Given the description of an element on the screen output the (x, y) to click on. 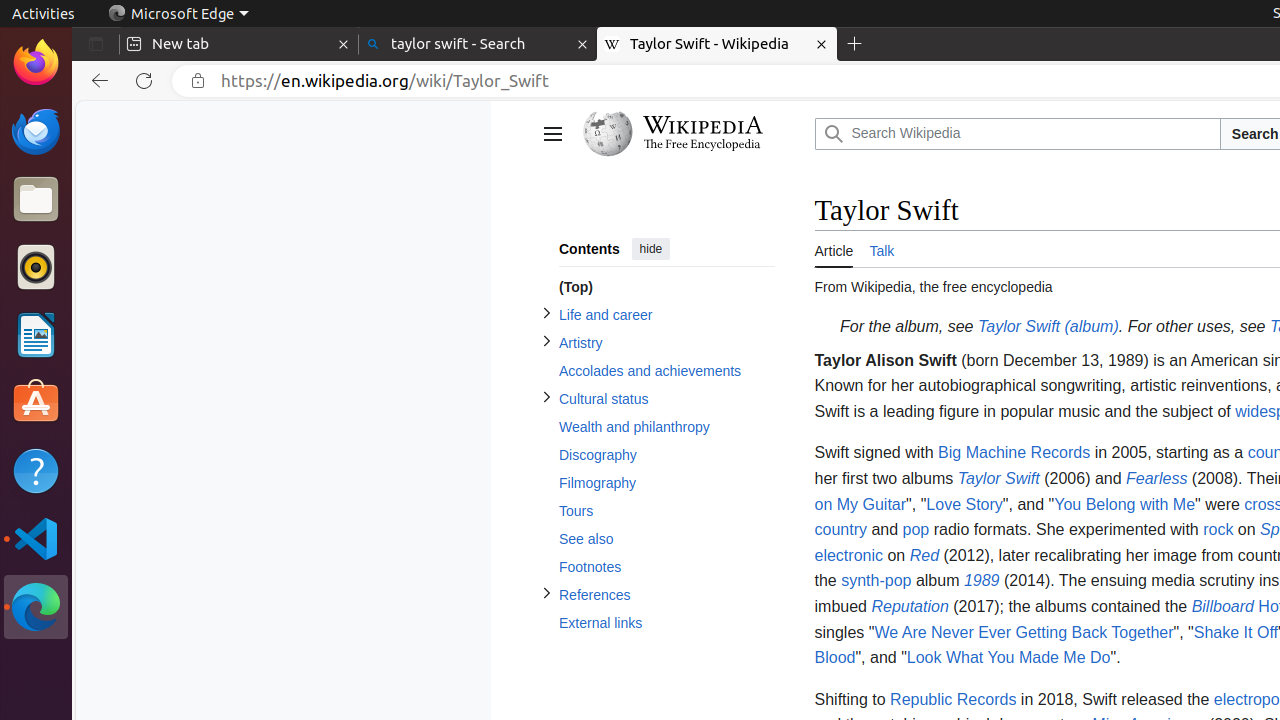
LibreOffice Writer Element type: push-button (36, 334)
Files Element type: push-button (36, 199)
Tab actions menu Element type: push-button (96, 44)
hide Element type: push-button (650, 248)
Back Element type: push-button (96, 81)
